Given the description of an element on the screen output the (x, y) to click on. 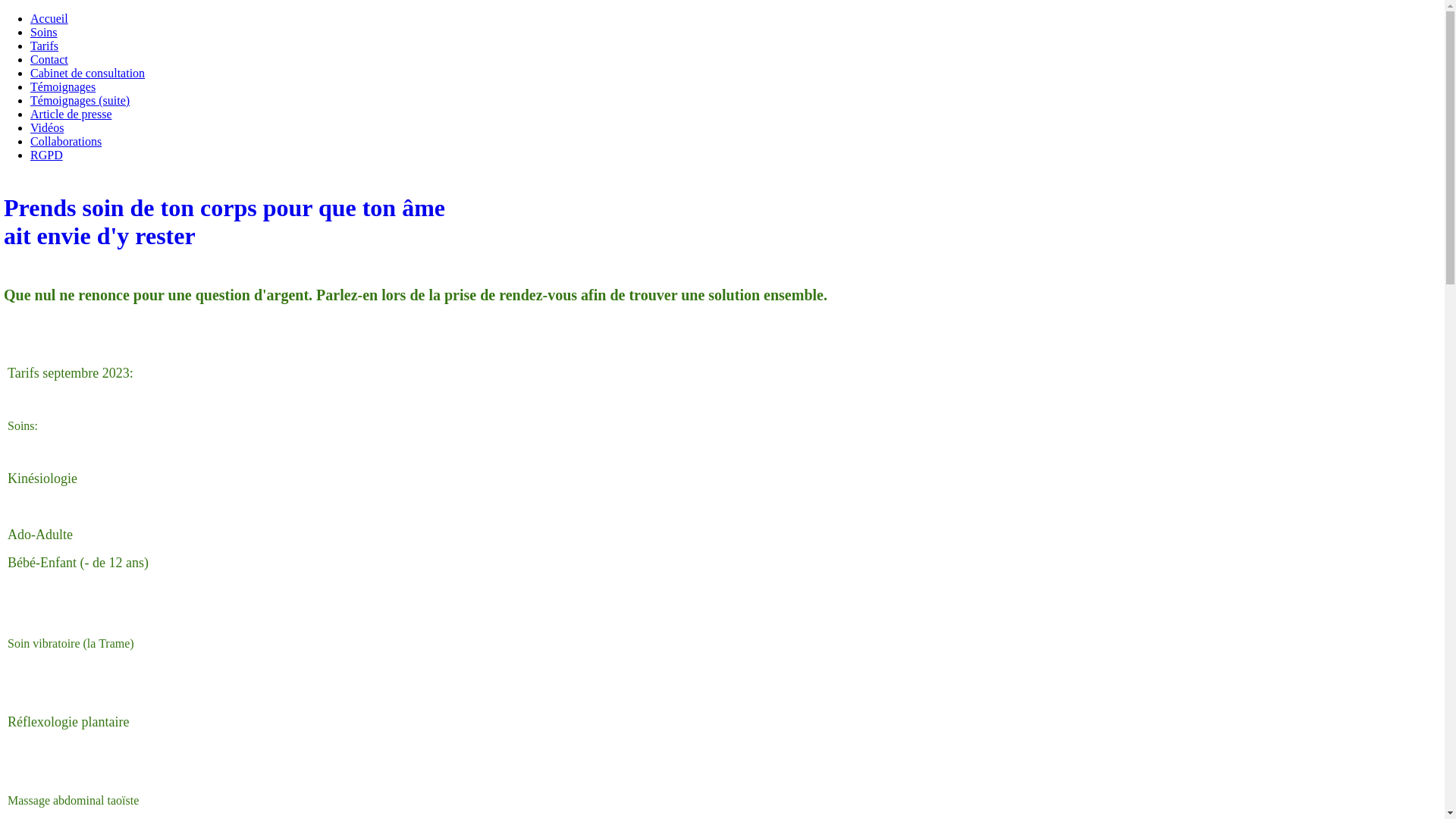
Collaborations Element type: text (65, 140)
Article de presse Element type: text (71, 113)
Accueil Element type: text (49, 18)
Tarifs Element type: text (44, 45)
RGPD Element type: text (46, 154)
Contact Element type: text (49, 59)
Cabinet de consultation Element type: text (87, 72)
Soins Element type: text (43, 31)
